Given the description of an element on the screen output the (x, y) to click on. 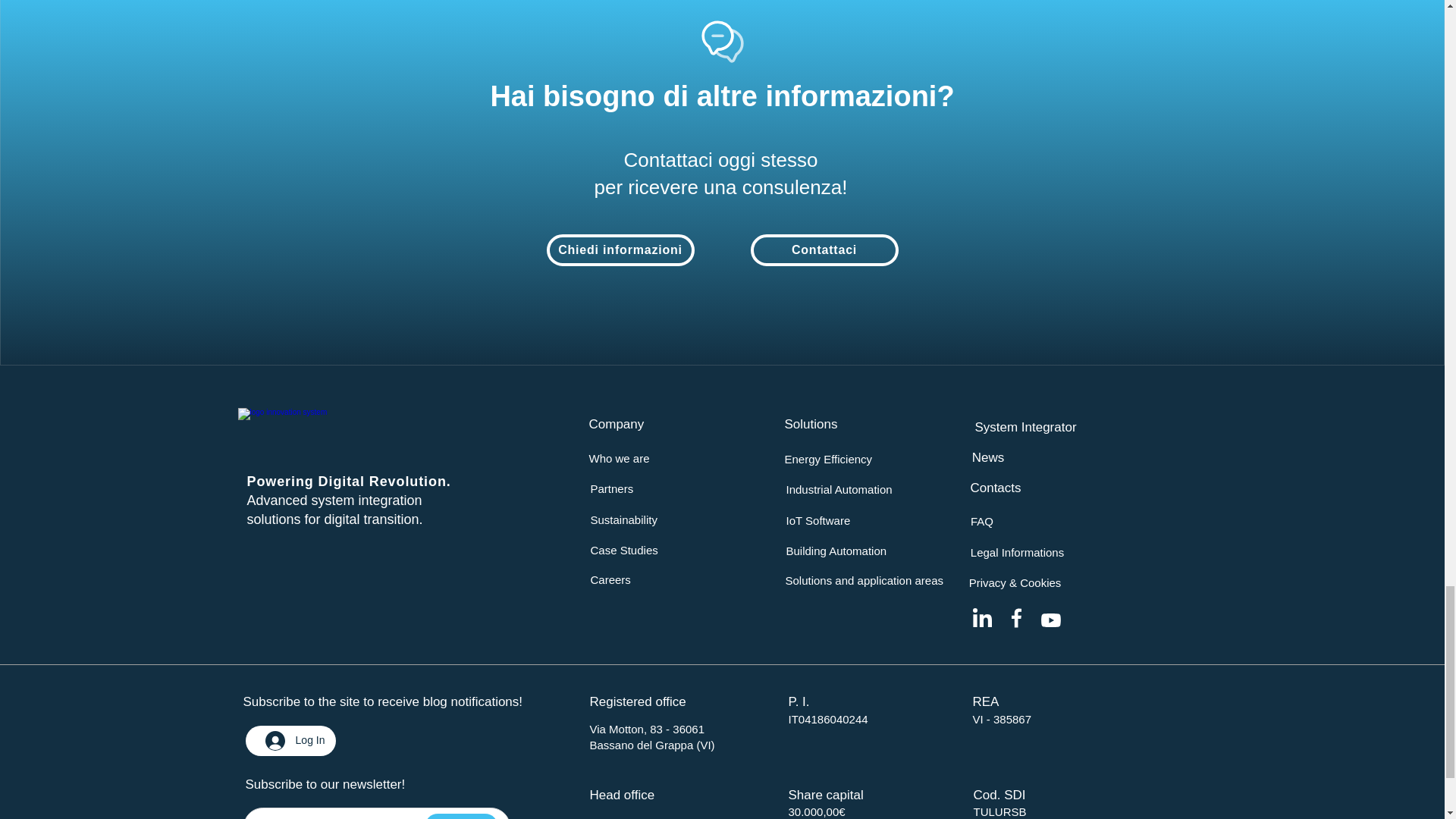
Contattaci (824, 250)
Chiedi informazioni (620, 250)
Who we are (618, 458)
